Given the description of an element on the screen output the (x, y) to click on. 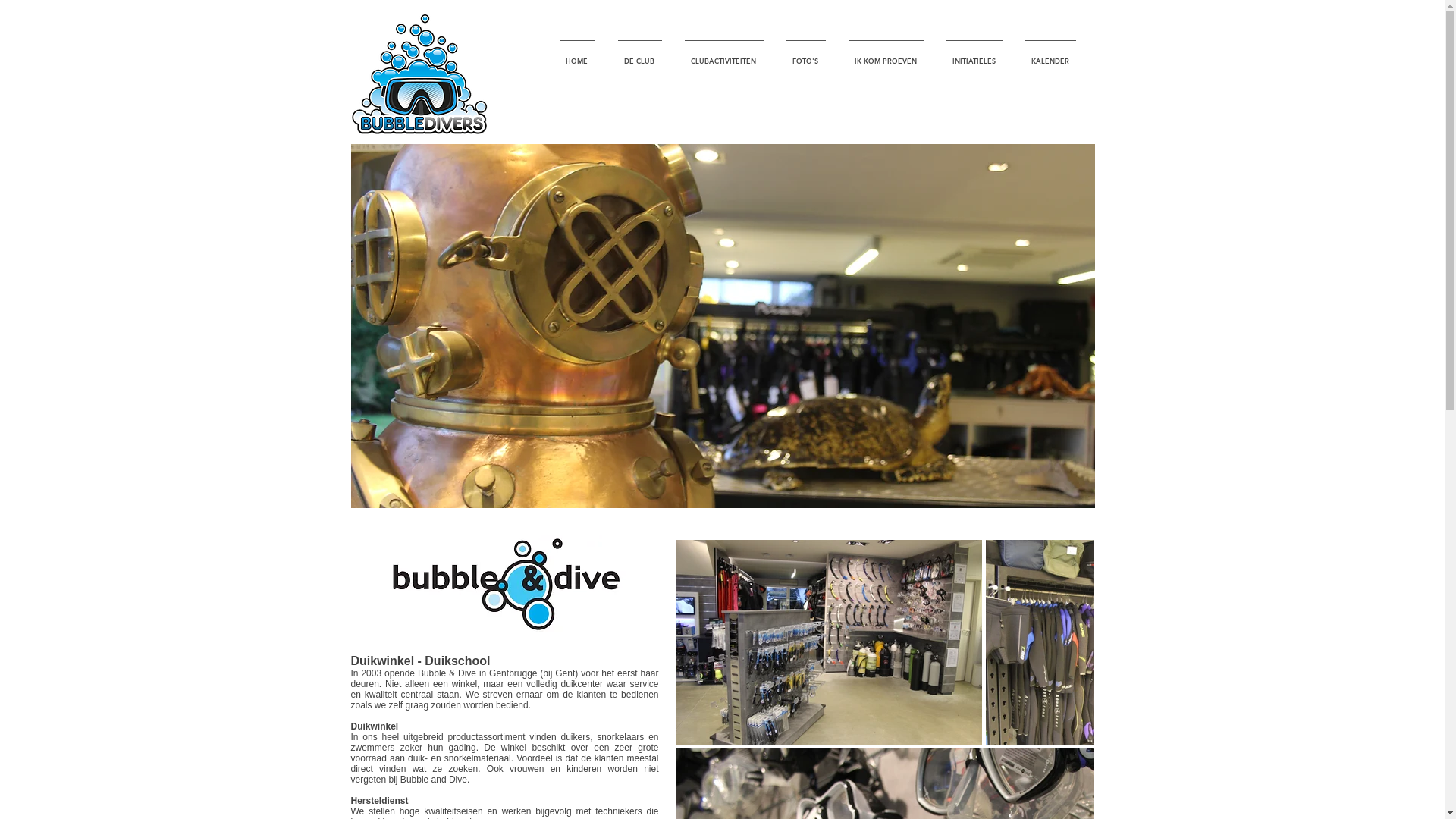
HOME Element type: text (576, 54)
DE CLUB Element type: text (639, 54)
CLUBACTIVITEITEN Element type: text (724, 54)
FOTO'S Element type: text (806, 54)
KALENDER Element type: text (1049, 54)
IK KOM PROEVEN Element type: text (886, 54)
INITIATIELES Element type: text (973, 54)
